Given the description of an element on the screen output the (x, y) to click on. 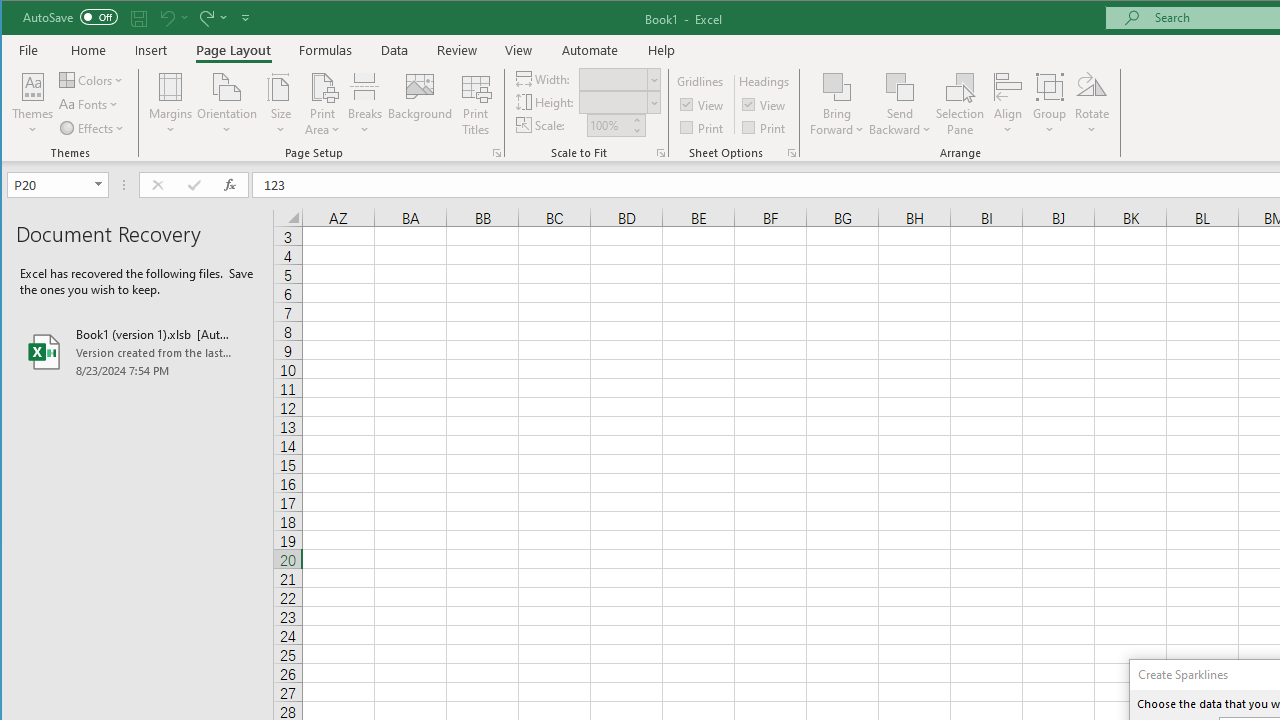
Sheet Options (791, 152)
More (636, 120)
Breaks (365, 104)
Height (619, 101)
Effects (93, 127)
Group (1050, 104)
Margins (170, 104)
Page Setup (660, 152)
Width (619, 78)
